Given the description of an element on the screen output the (x, y) to click on. 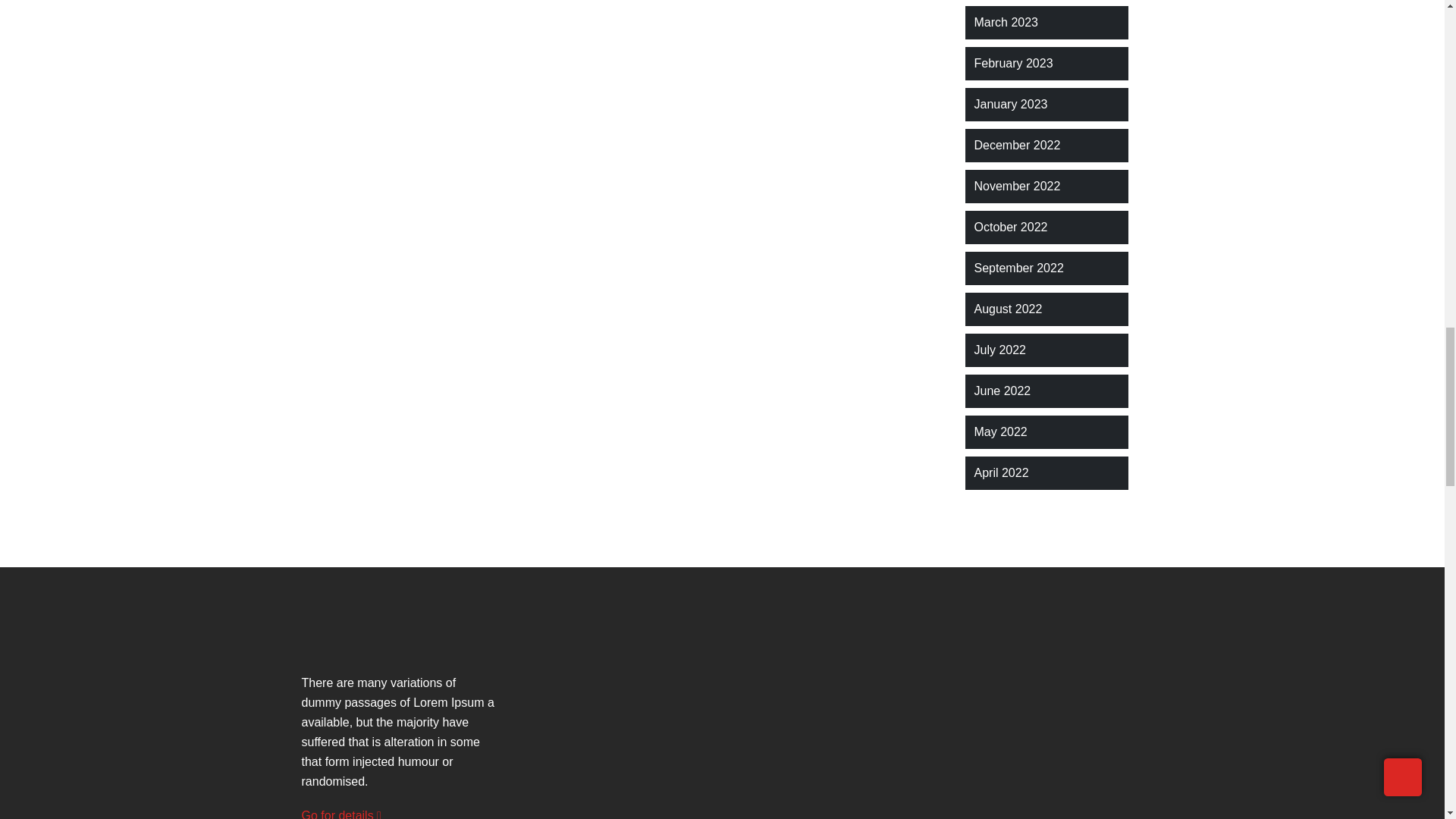
March 2023 (1006, 22)
